Given the description of an element on the screen output the (x, y) to click on. 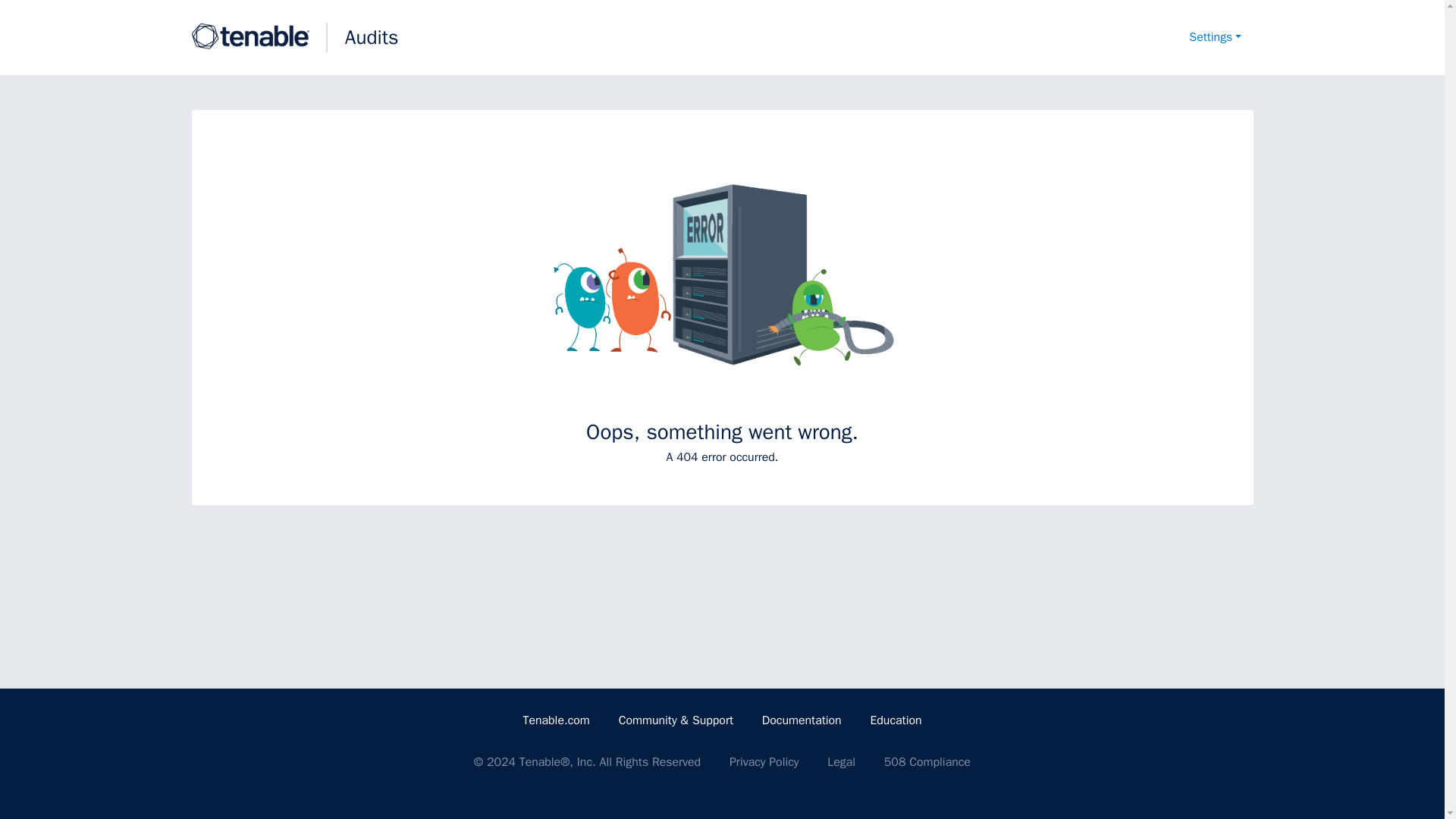
Audits (371, 37)
Settings (1214, 37)
